Given the description of an element on the screen output the (x, y) to click on. 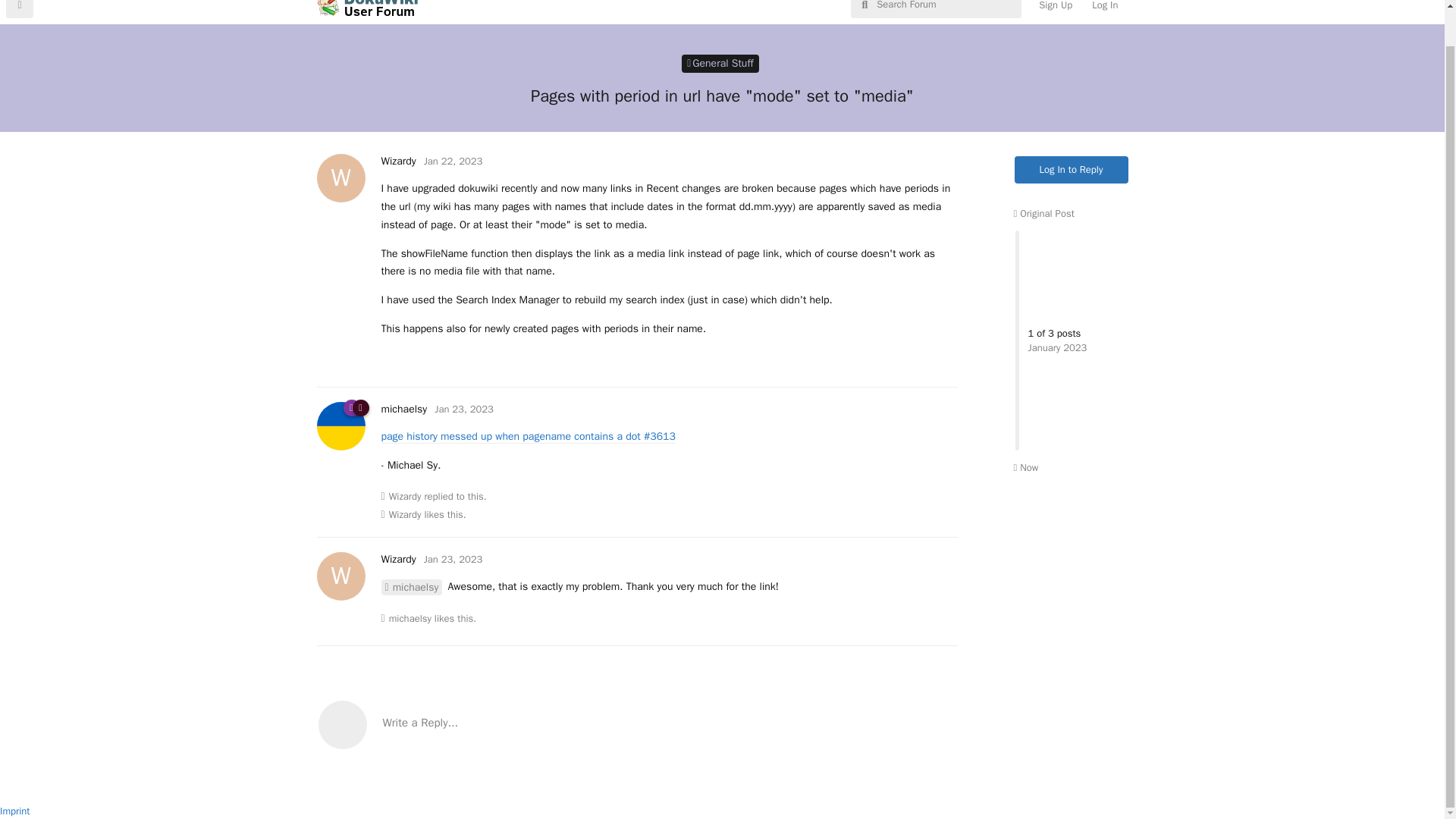
General Stuff (397, 160)
michaelsy (719, 63)
Log In (403, 408)
michaelsy (1103, 9)
Monday, January 23, 2023 1:22 AM (409, 618)
Monday, January 23, 2023 1:11 AM (453, 558)
Jan 23, 2023 (463, 408)
Jan 22, 2023 (463, 408)
Now (453, 160)
michaelsy (397, 558)
Sunday, January 22, 2023 11:49 PM (1025, 467)
Sign Up (411, 587)
